Given the description of an element on the screen output the (x, y) to click on. 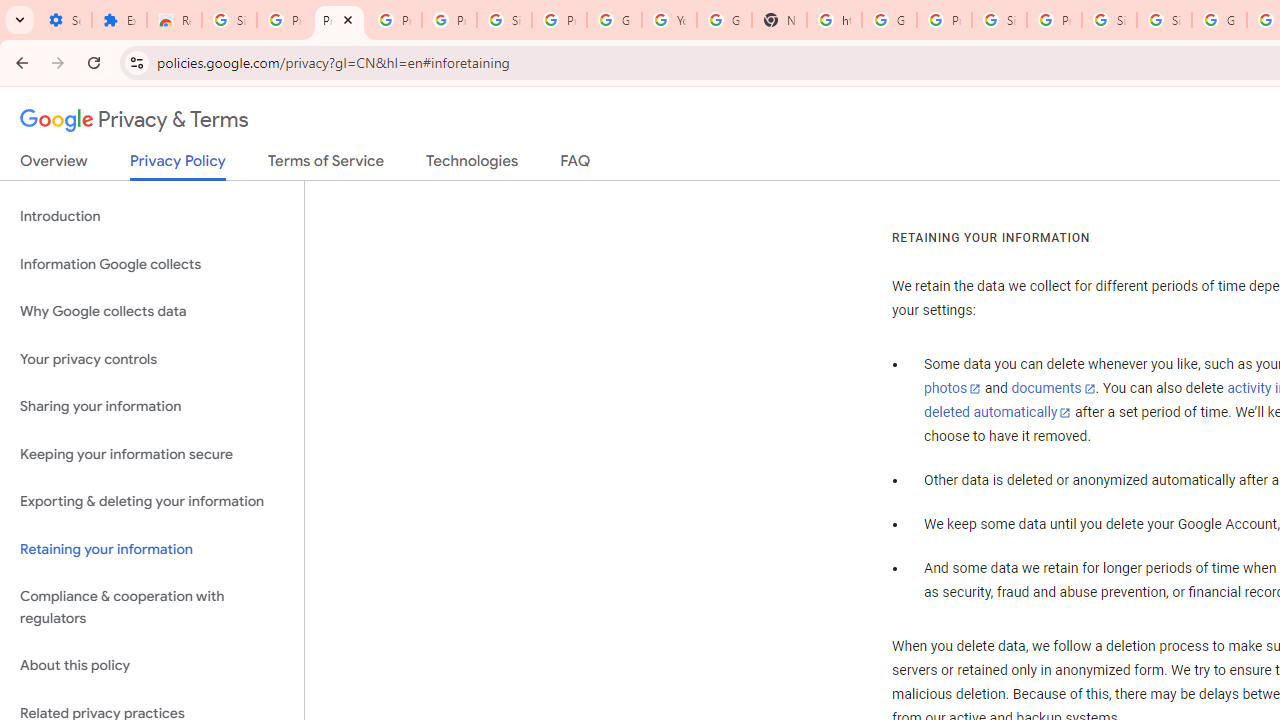
New Tab (779, 20)
photos (952, 389)
Sign in - Google Accounts (504, 20)
Sign in - Google Accounts (1163, 20)
Sharing your information (152, 407)
YouTube (669, 20)
Sign in - Google Accounts (1108, 20)
Exporting & deleting your information (152, 502)
